Given the description of an element on the screen output the (x, y) to click on. 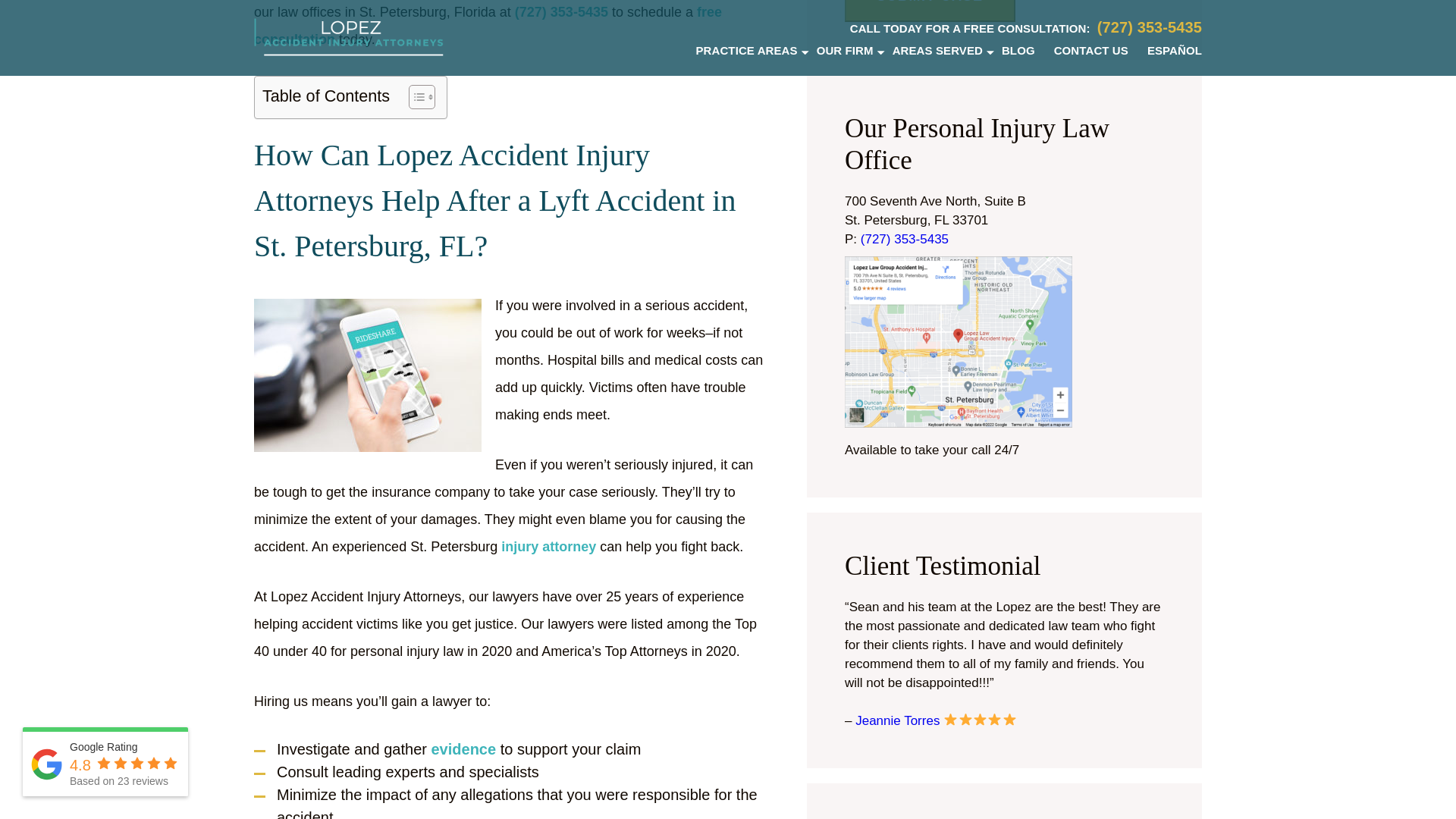
Submit Case (929, 11)
free consultation (487, 26)
